Given the description of an element on the screen output the (x, y) to click on. 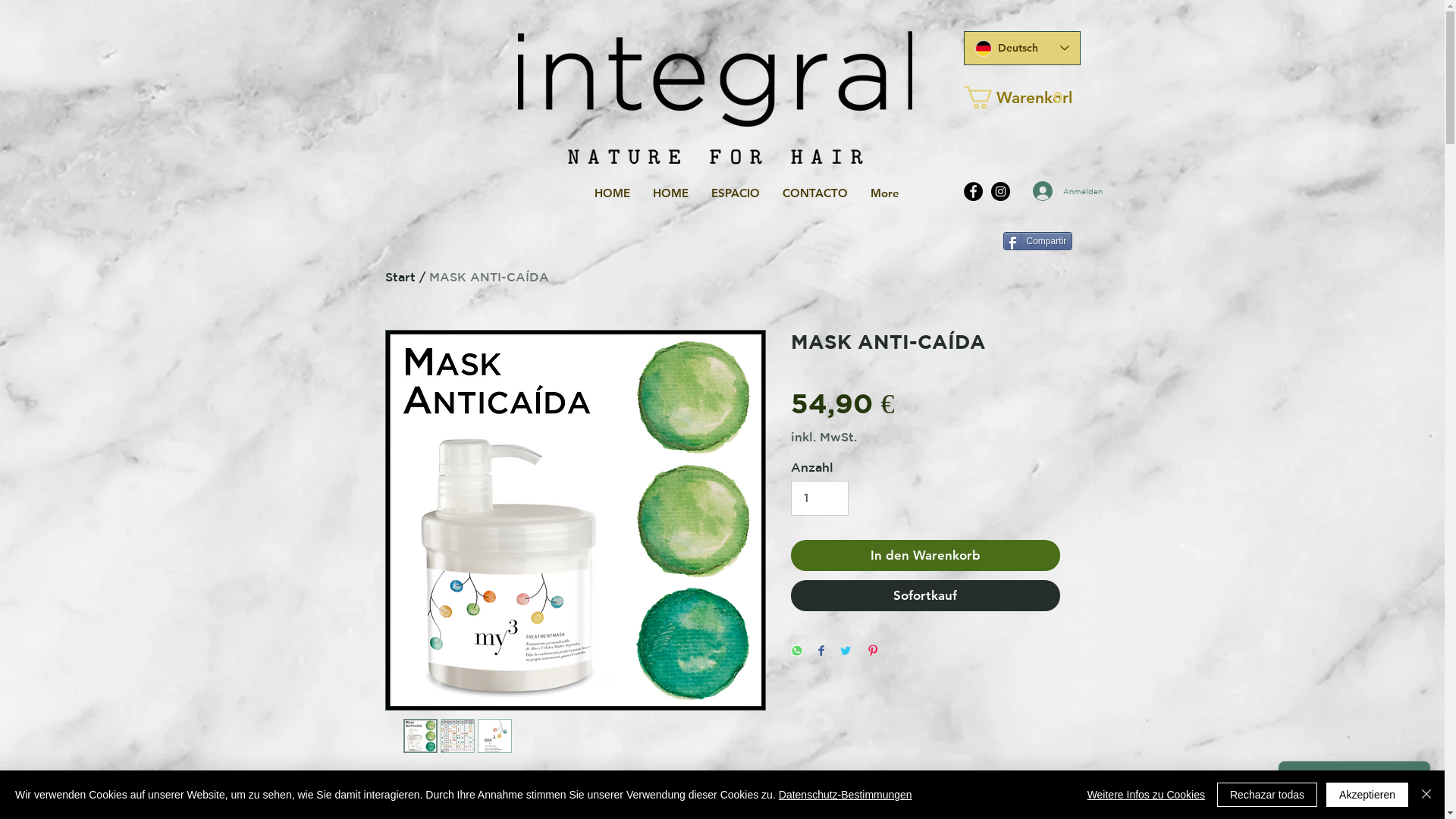
In den Warenkorb Element type: text (924, 555)
Compartir Element type: text (1037, 241)
HOME Element type: text (670, 192)
HOME Element type: text (611, 192)
CONTACTO Element type: text (814, 192)
Rechazar todas Element type: text (1267, 794)
Start Element type: text (400, 276)
Anmelden Element type: text (1053, 190)
Datenschutz-Bestimmungen Element type: text (845, 794)
Warenkorb
0 Element type: text (1016, 97)
Sofortkauf Element type: text (924, 595)
Akzeptieren Element type: text (1367, 794)
ESPACIO Element type: text (734, 192)
